Given the description of an element on the screen output the (x, y) to click on. 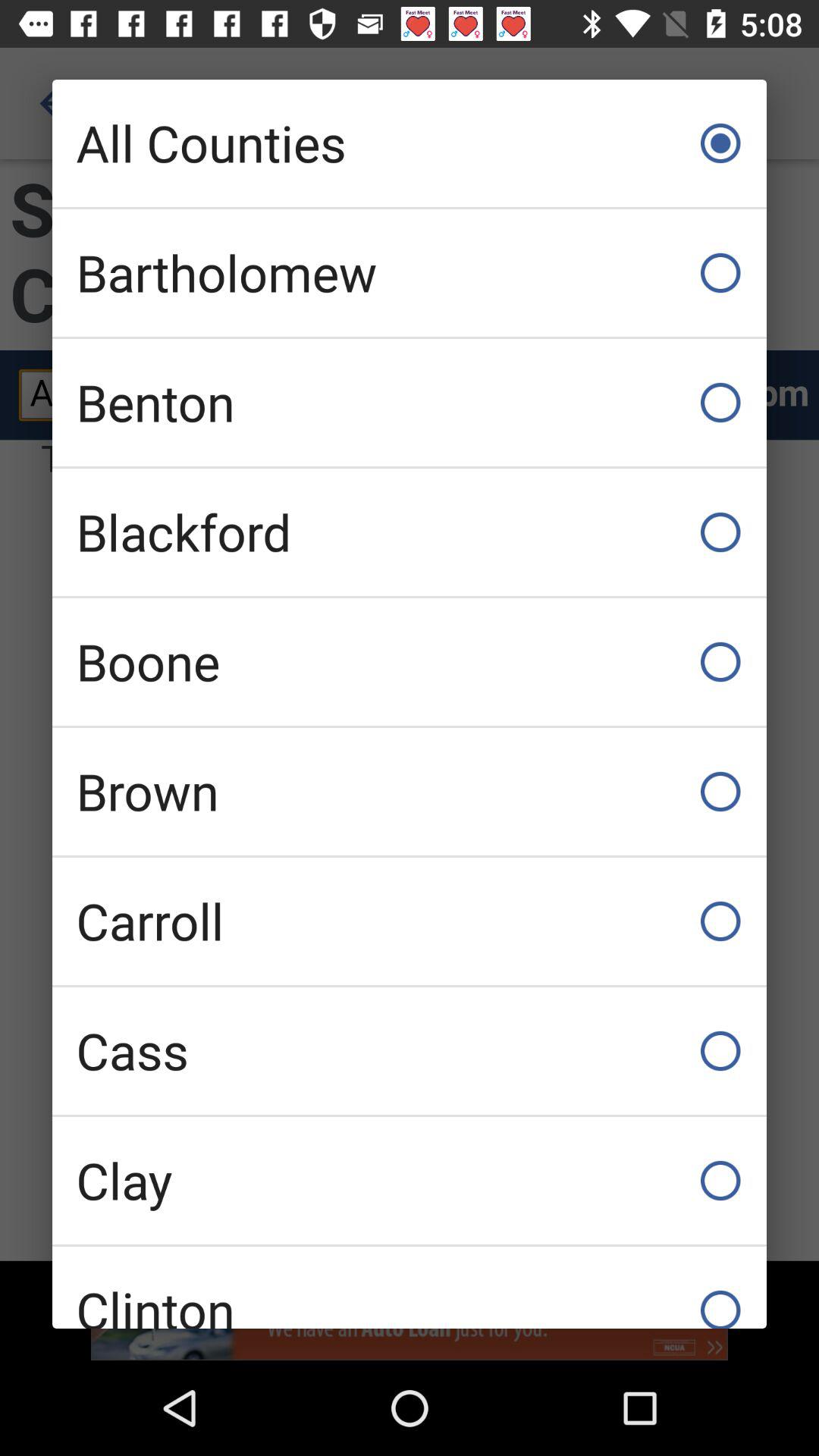
press the item above the benton icon (409, 272)
